Given the description of an element on the screen output the (x, y) to click on. 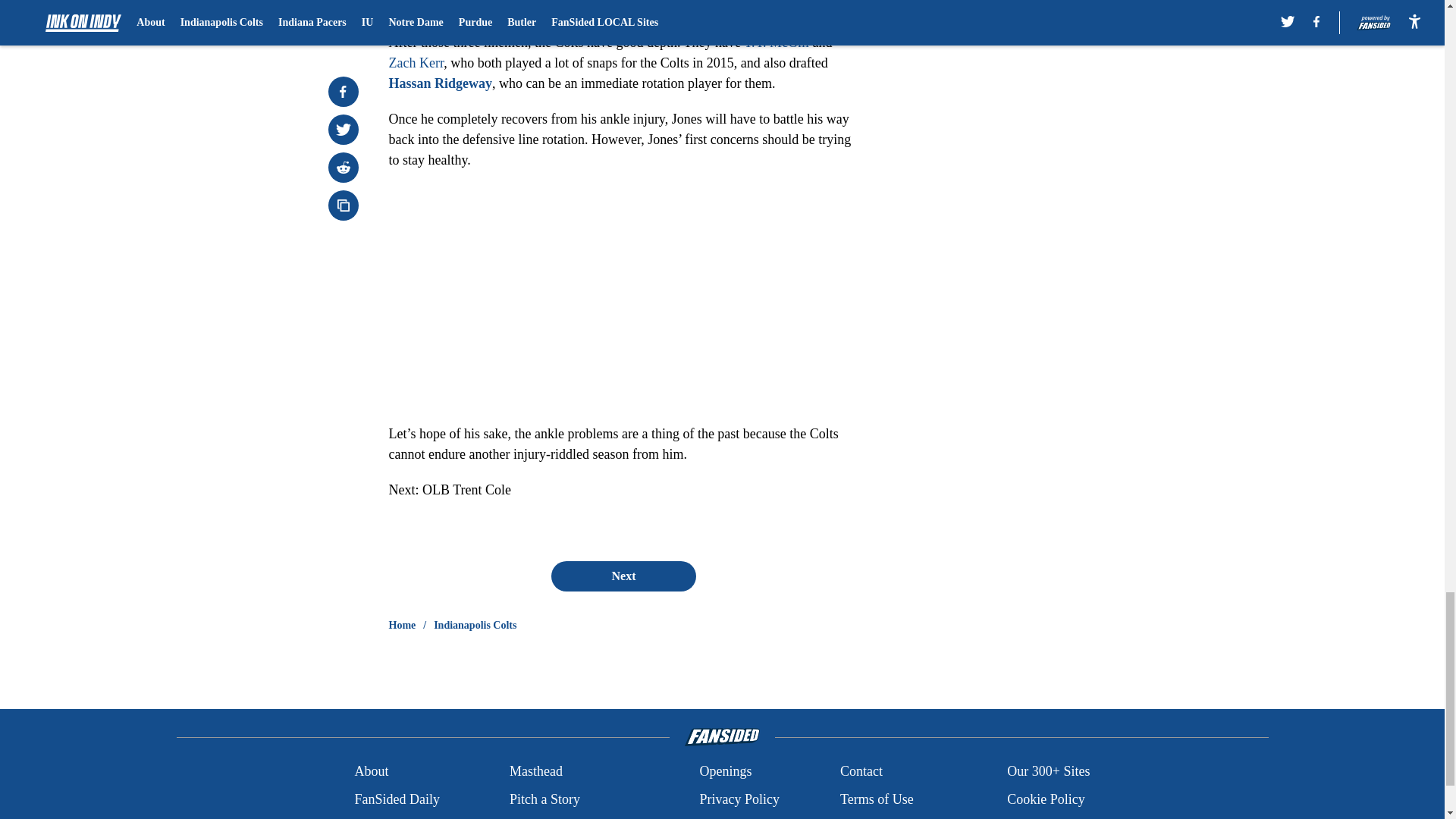
Zach Kerr (416, 62)
Next (622, 576)
Home (401, 625)
About (370, 771)
Indianapolis Colts (474, 625)
Hassan Ridgeway (440, 83)
Masthead (535, 771)
T.Y. McGill (776, 42)
